Given the description of an element on the screen output the (x, y) to click on. 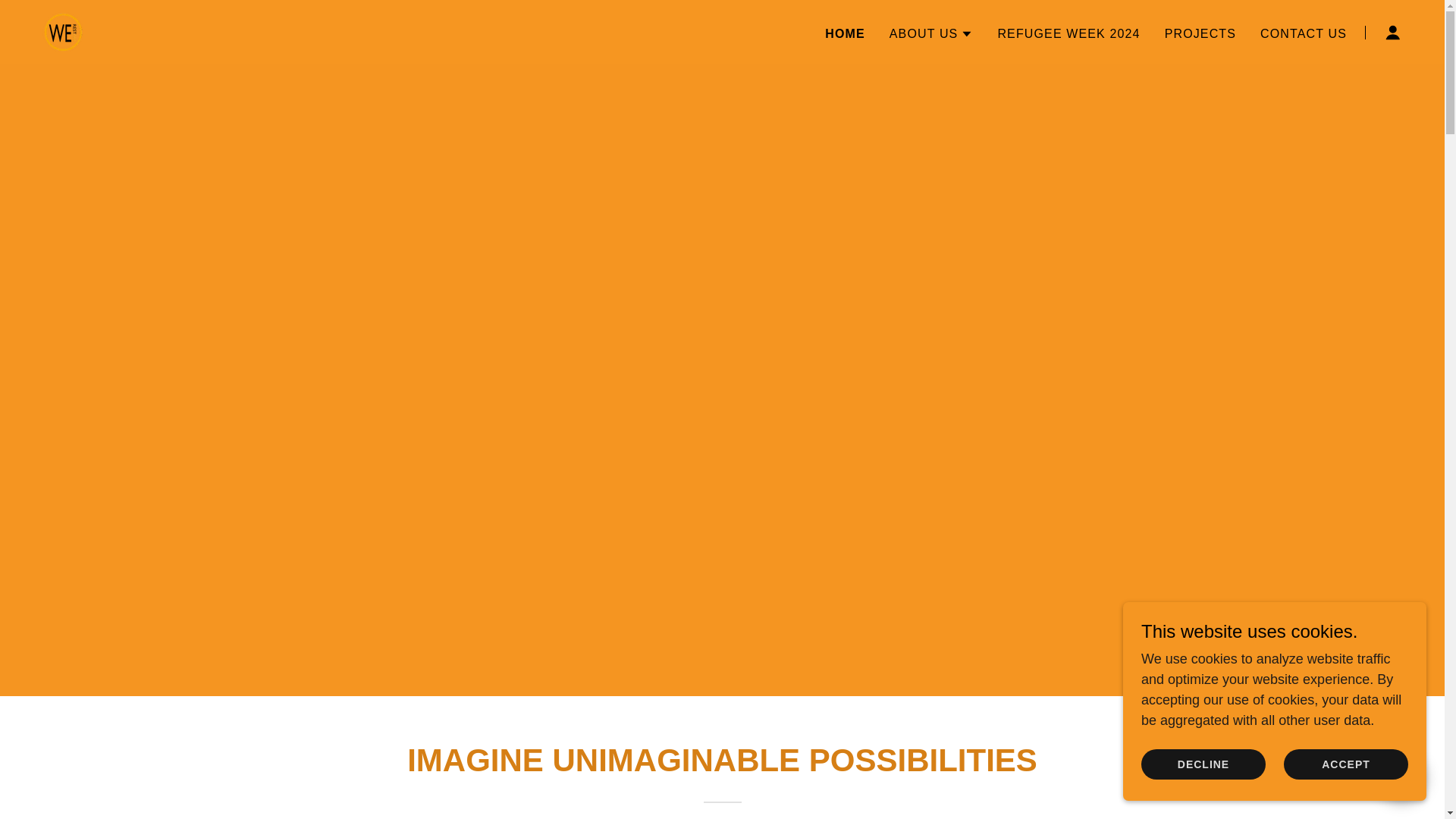
CONTACT US (1303, 33)
HOME (844, 34)
ABOUT US (931, 34)
we restart (63, 30)
REFUGEE WEEK 2024 (1068, 33)
PROJECTS (1200, 33)
